Given the description of an element on the screen output the (x, y) to click on. 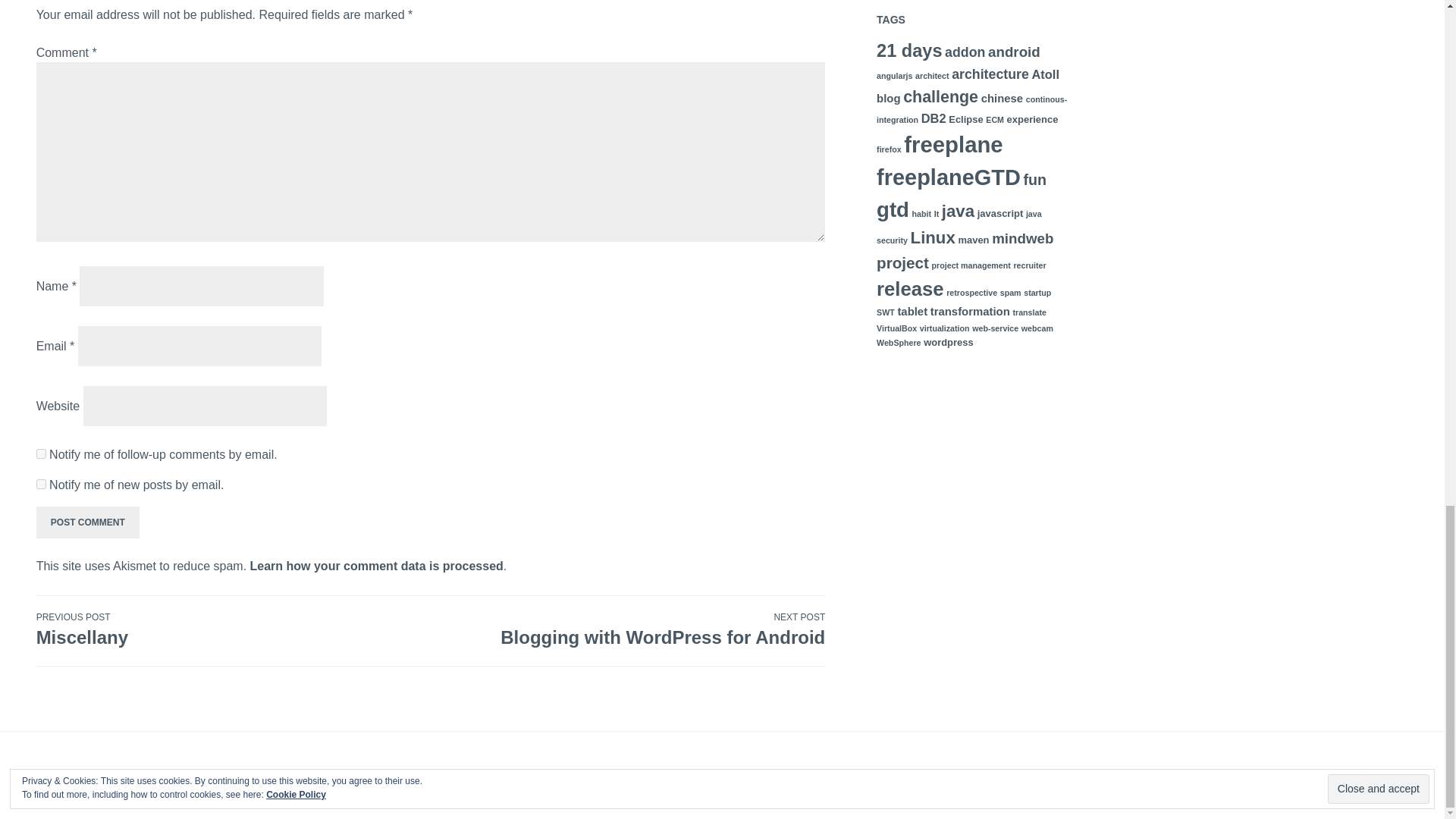
Post Comment (87, 522)
subscribe (41, 483)
subscribe (41, 453)
